Given the description of an element on the screen output the (x, y) to click on. 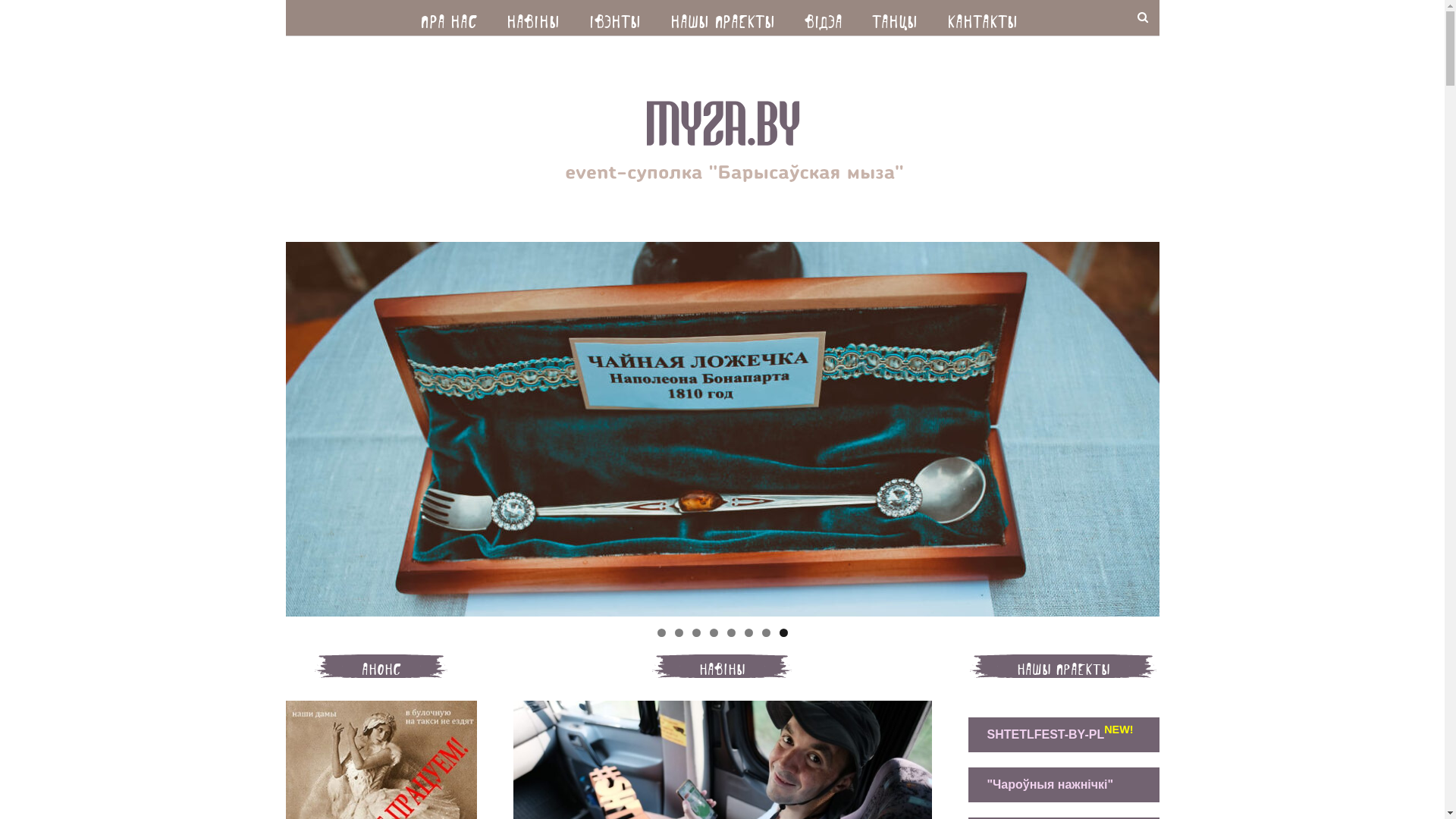
2 Element type: text (678, 632)
6 Element type: text (748, 632)
3 Element type: text (695, 632)
8 Element type: text (783, 632)
7 Element type: text (765, 632)
1 Element type: text (660, 632)
napoleon_teaspoon Element type: hover (721, 428)
4 Element type: text (713, 632)
5 Element type: text (730, 632)
SHTETLFEST-BY-PLNEW! Element type: text (1060, 734)
